Given the description of an element on the screen output the (x, y) to click on. 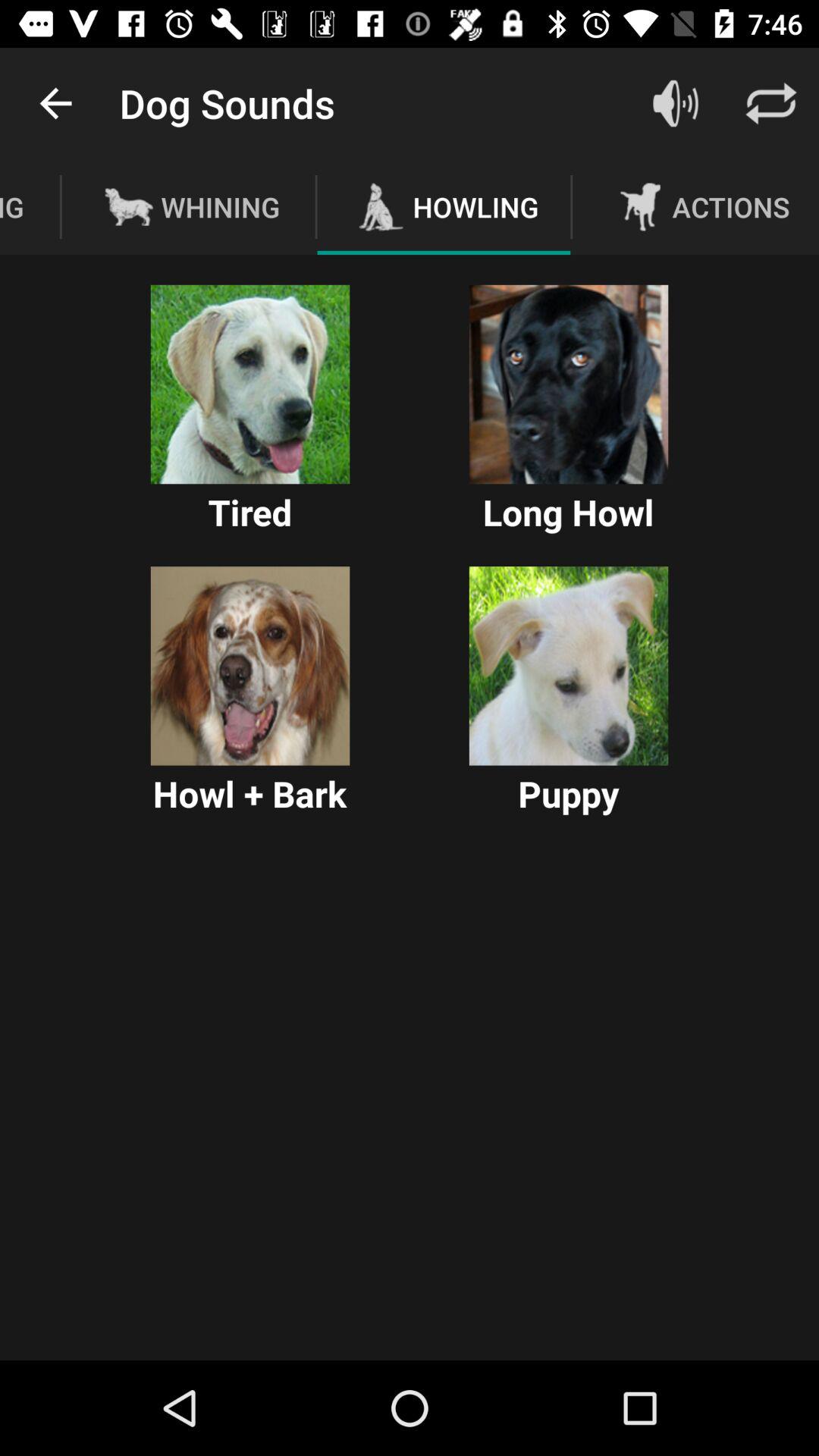
play long howl sound (568, 384)
